Given the description of an element on the screen output the (x, y) to click on. 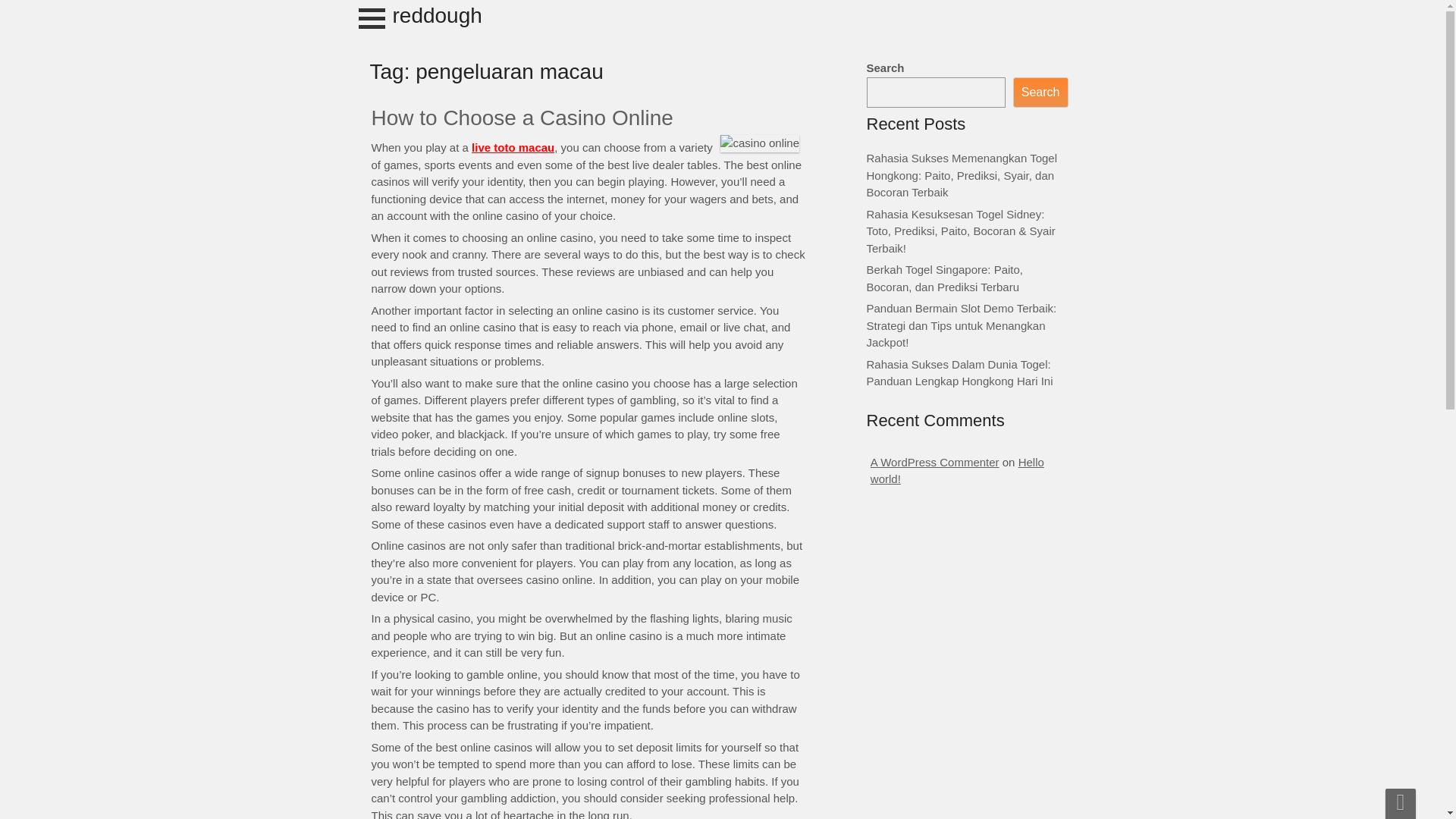
How to Choose a Casino Online (521, 117)
Berkah Togel Singapore: Paito, Bocoran, dan Prediksi Terbaru (944, 277)
A WordPress Commenter (934, 461)
reddough (437, 15)
How to Choose a Casino Online (521, 117)
Search (1040, 92)
live toto macau (512, 146)
Hello world! (956, 470)
